Given the description of an element on the screen output the (x, y) to click on. 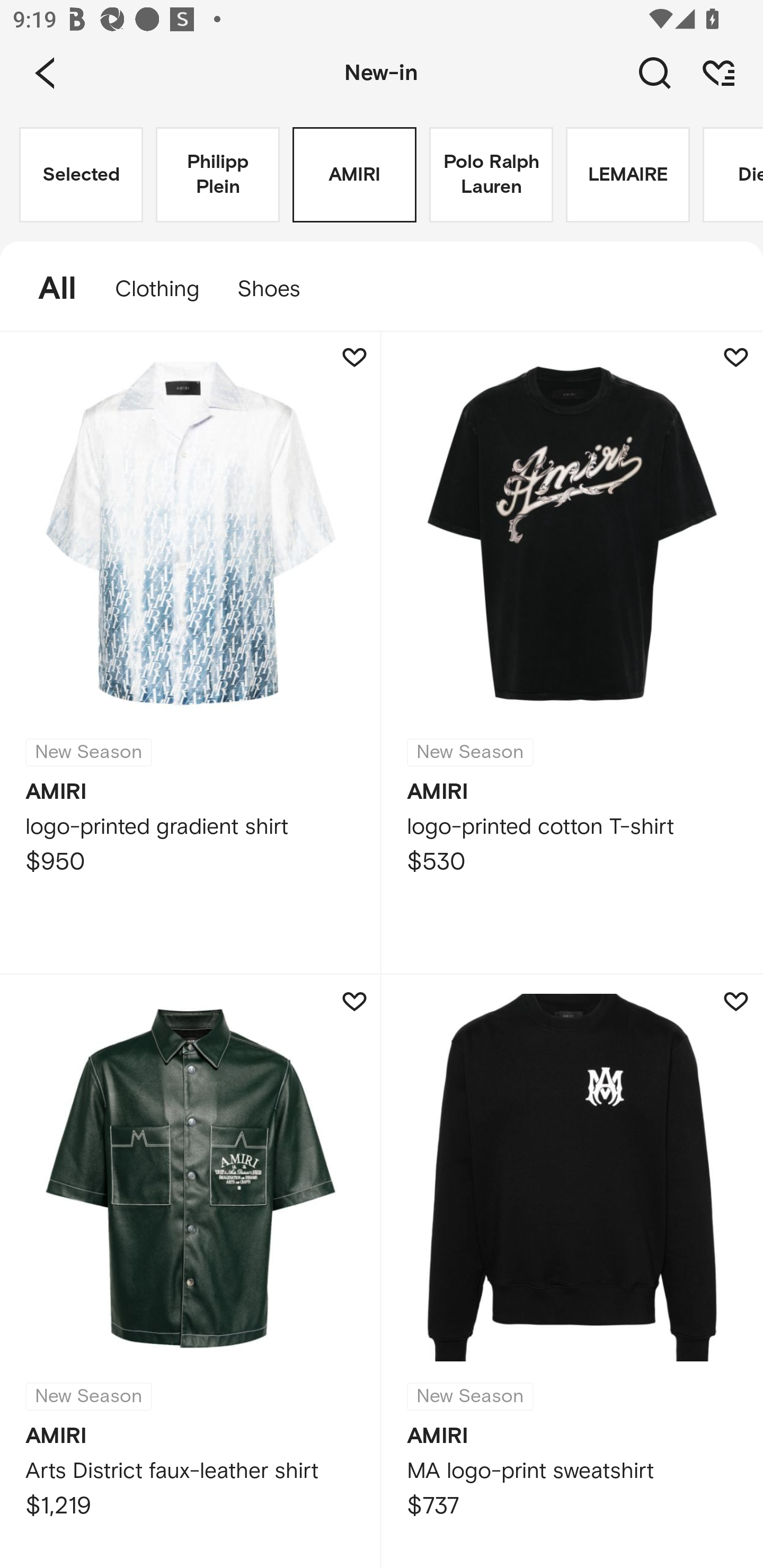
Selected (81, 174)
Philipp Plein (217, 174)
AMIRI (354, 174)
Polo Ralph Lauren (490, 174)
LEMAIRE (627, 174)
All (47, 288)
Clothing (156, 288)
Shoes (278, 288)
New Season AMIRI logo-printed gradient shirt $950 (190, 652)
New Season AMIRI logo-printed cotton T-shirt $530 (572, 652)
New Season AMIRI MA logo-print sweatshirt $737 (572, 1271)
